Given the description of an element on the screen output the (x, y) to click on. 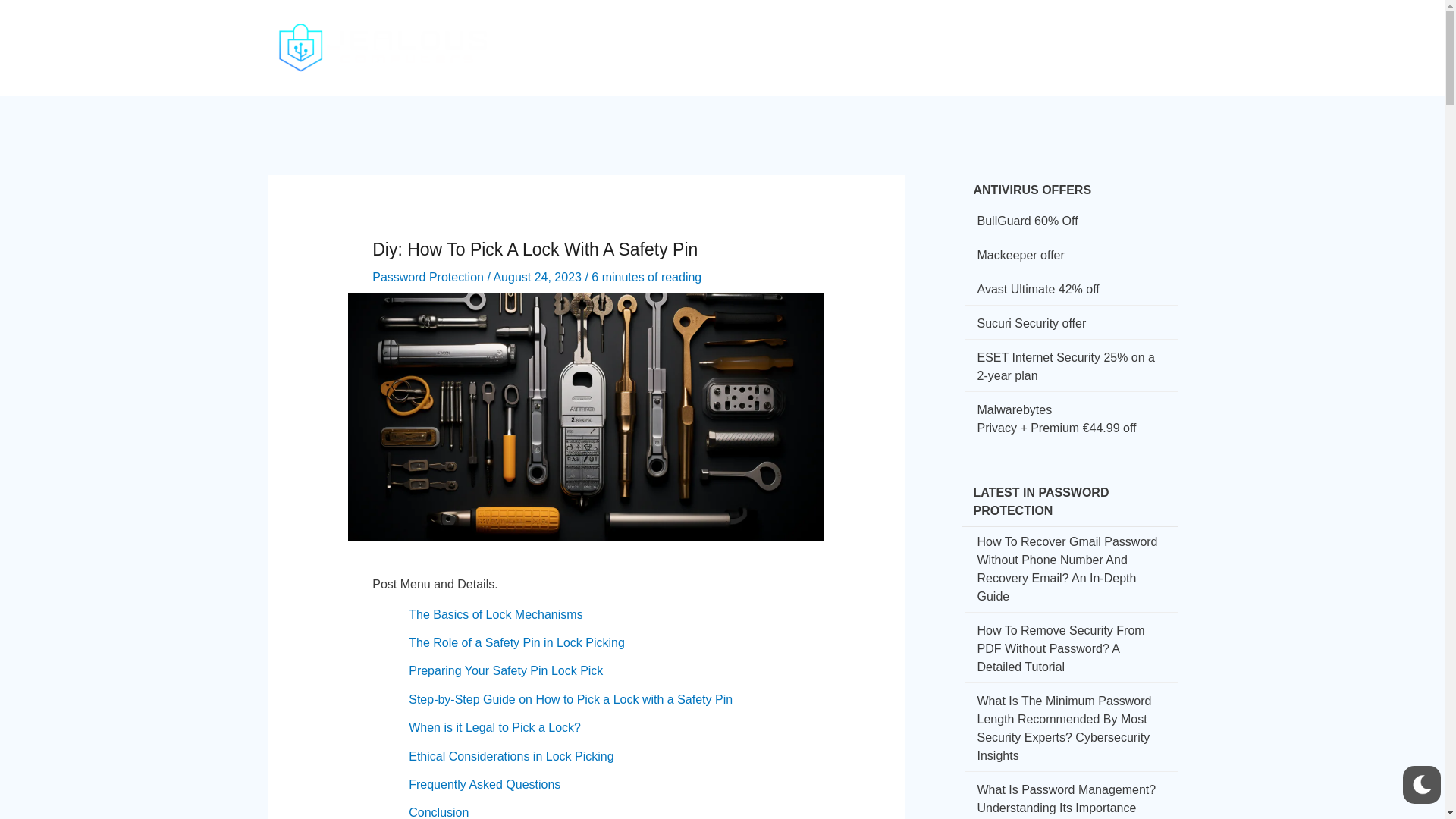
Ethical Considerations in Lock Picking (510, 756)
Search (1162, 37)
Password Protection (427, 277)
Frequently Asked Questions (484, 784)
Cyber Security (713, 35)
Conclusion (438, 812)
Finances (929, 35)
Preparing Your Safety Pin Lock Pick (505, 670)
Misc (1122, 35)
Gaming (999, 35)
The Basics of Lock Mechanisms (495, 614)
Step-by-Step Guide on How to Pick a Lock with a Safety Pin (570, 698)
Social (863, 35)
When is it Legal to Pick a Lock? (494, 727)
How-To (802, 35)
